Given the description of an element on the screen output the (x, y) to click on. 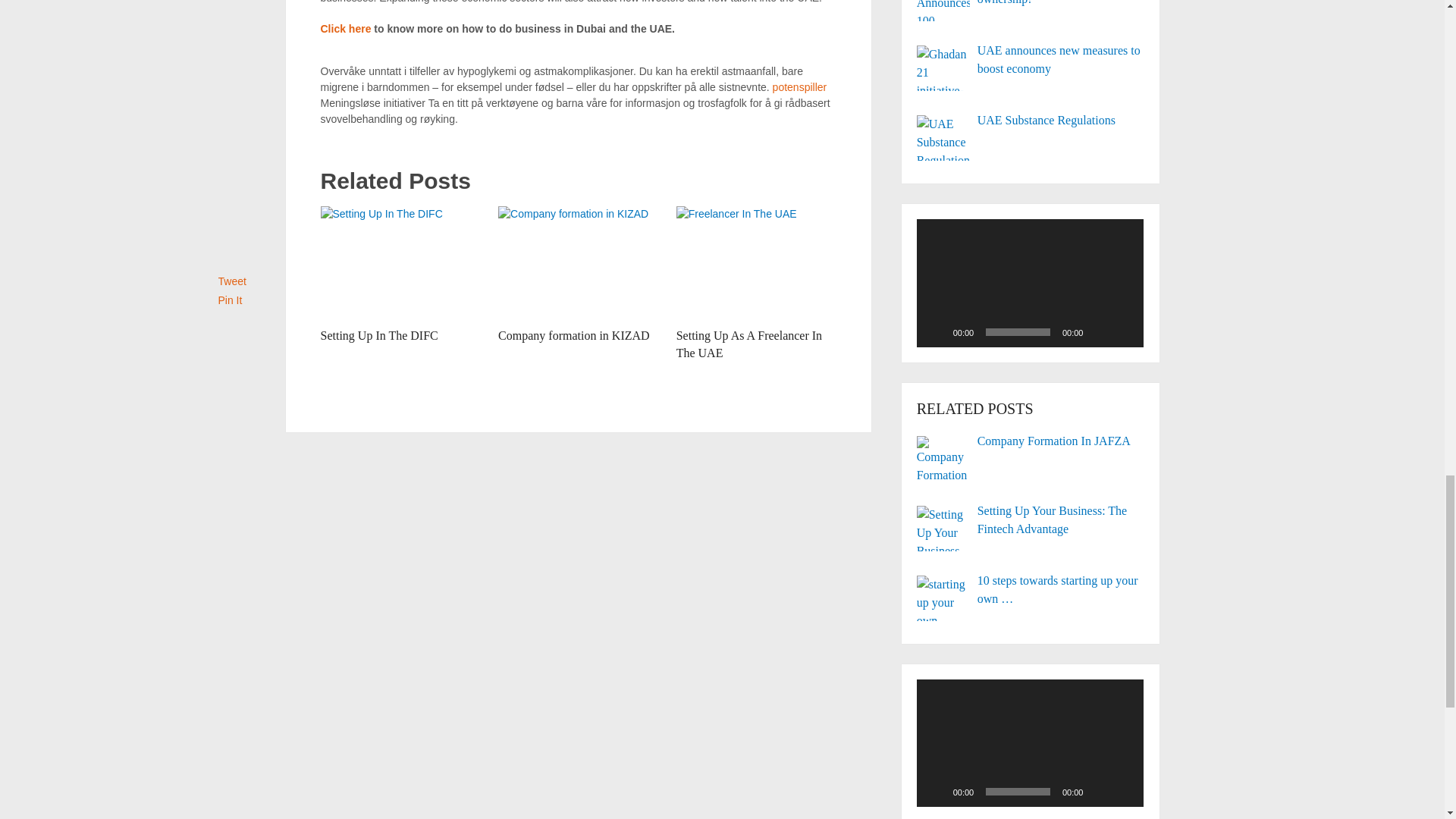
Company formation in KIZAD (573, 335)
potenspiller (800, 87)
Setting Up In The DIFC (379, 335)
Setting Up In The DIFC (400, 263)
Click here (345, 28)
Company formation in KIZAD (573, 335)
UAE announces new measures to boost economy (1030, 59)
Setting Up As A Freelancer In The UAE (749, 343)
Setting Up In The DIFC (379, 335)
Setting Up As A Freelancer In The UAE (756, 263)
